Given the description of an element on the screen output the (x, y) to click on. 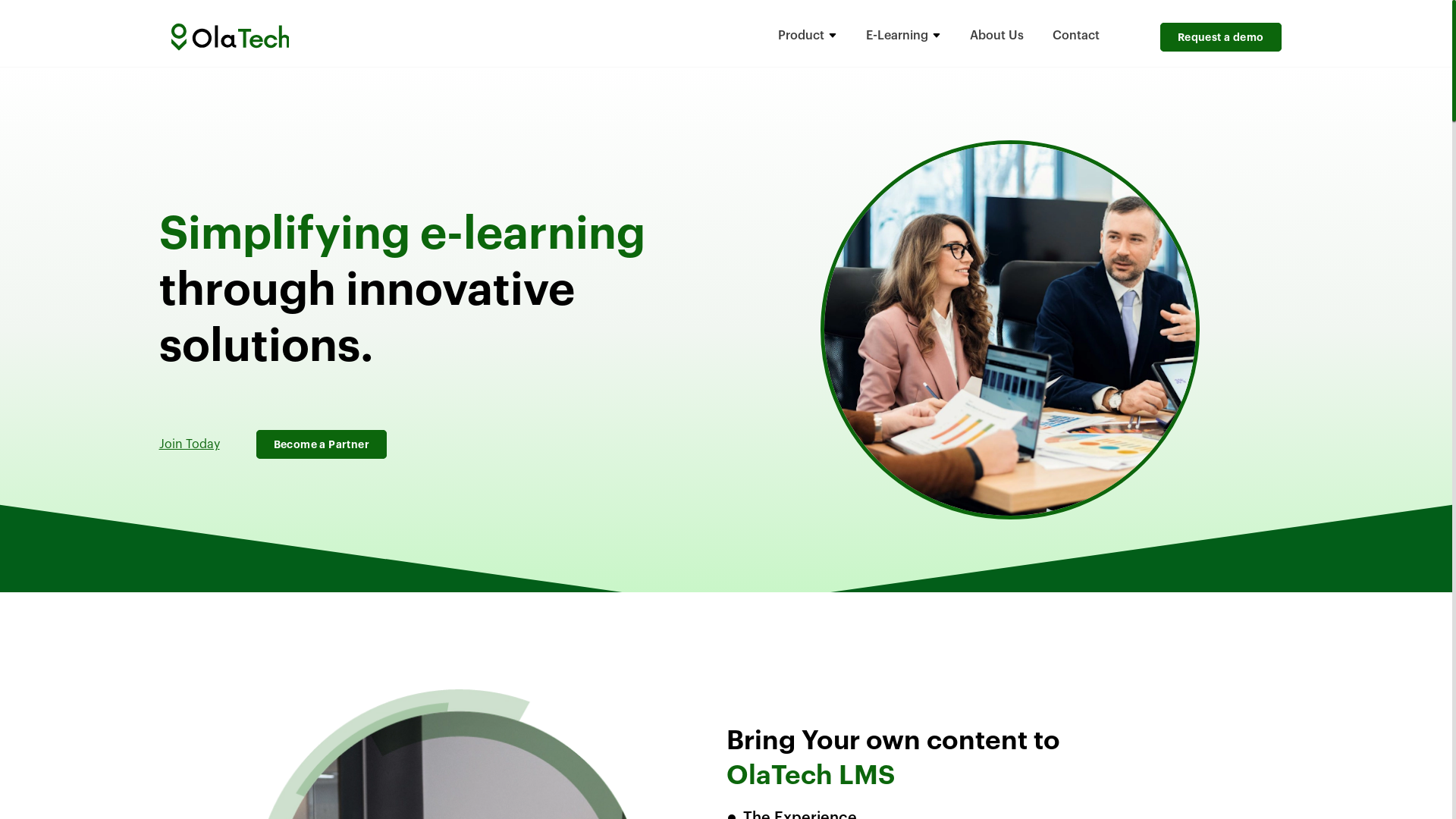
Contact Element type: text (1075, 35)
Join Today Element type: text (189, 444)
E-Learning Element type: text (903, 35)
Product Element type: text (807, 35)
About Us Element type: text (996, 35)
Become a Partner Element type: text (321, 443)
Request a demo Element type: text (1220, 36)
